Given the description of an element on the screen output the (x, y) to click on. 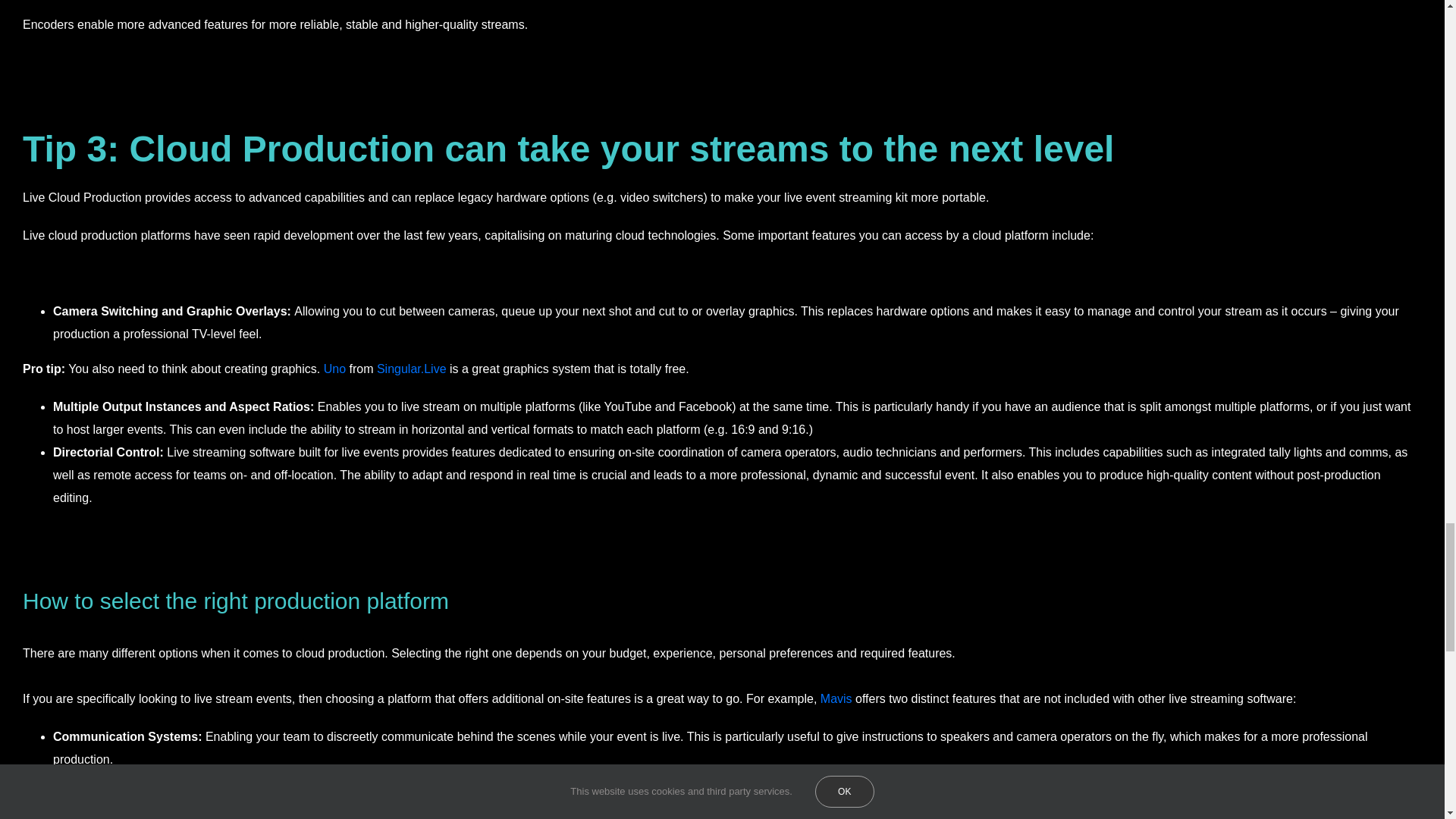
Uno (334, 368)
Mavis (836, 698)
Singular.Live (411, 368)
